Given the description of an element on the screen output the (x, y) to click on. 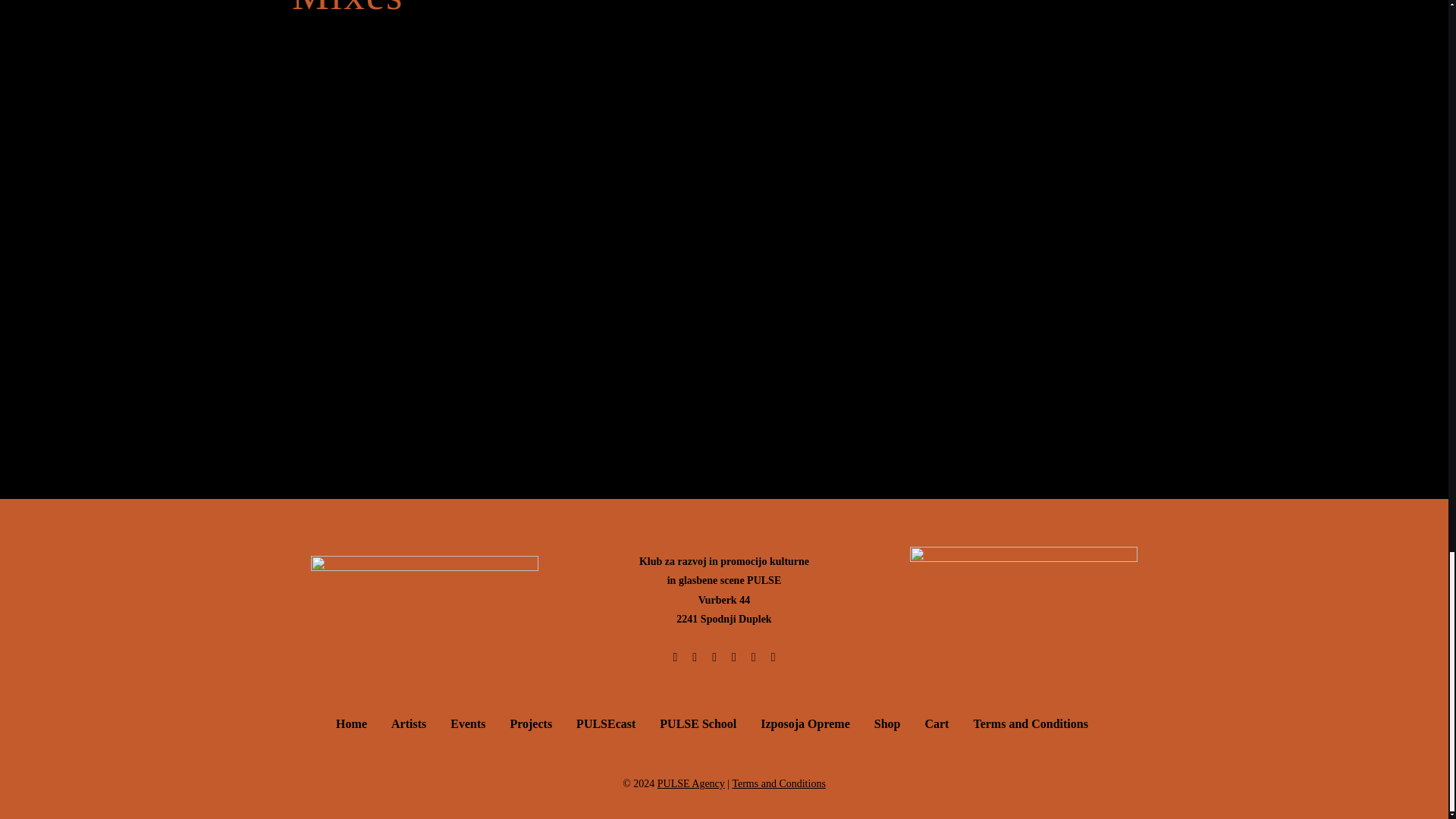
soundcloud (724, 237)
YouTube video player 3 (519, 78)
YouTube video player 4 (968, 78)
soundcloud (724, 105)
soundcloud (724, 369)
